Given the description of an element on the screen output the (x, y) to click on. 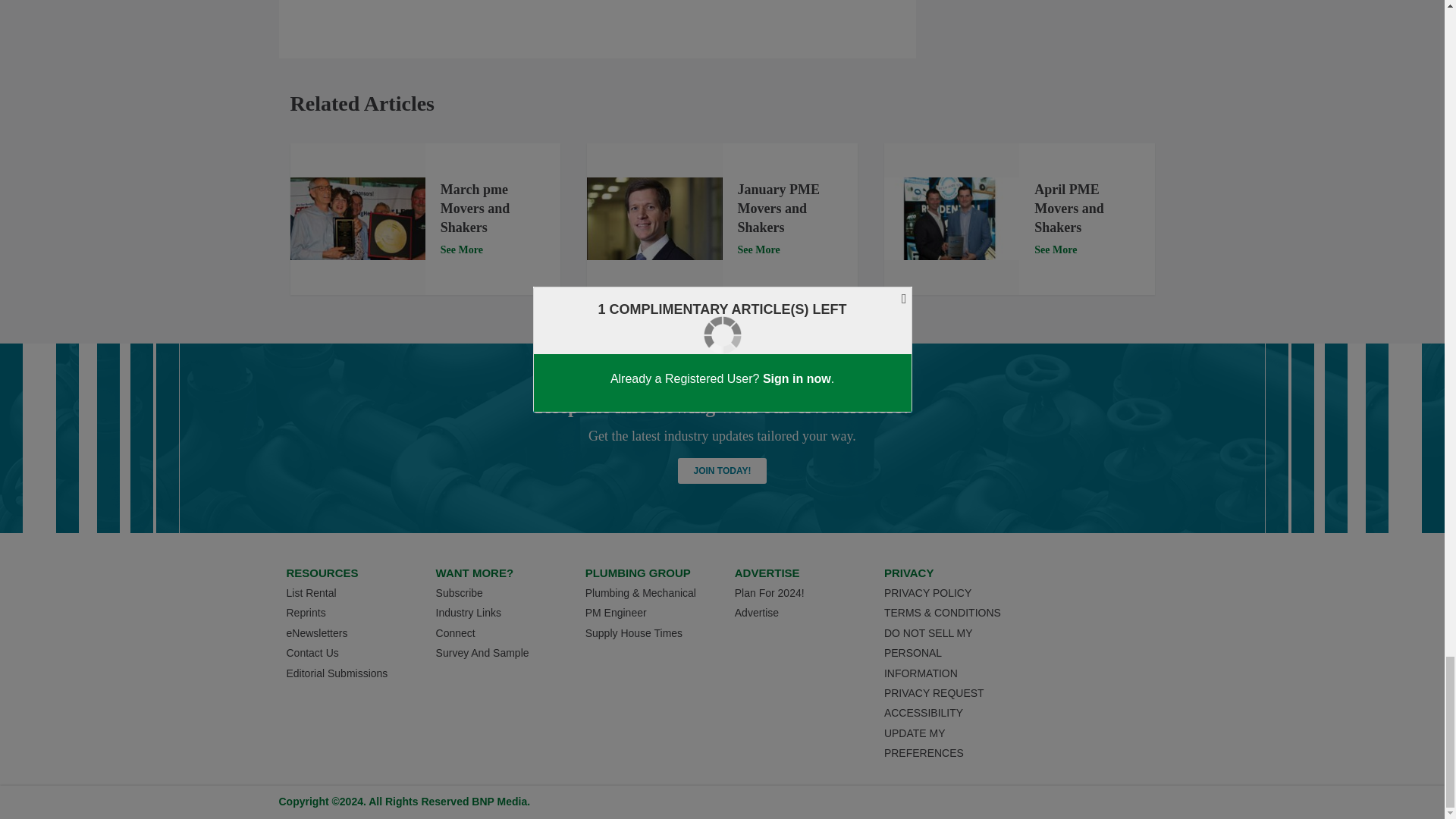
Fresh-Aire UV (951, 218)
Lusardi (654, 218)
